Given the description of an element on the screen output the (x, y) to click on. 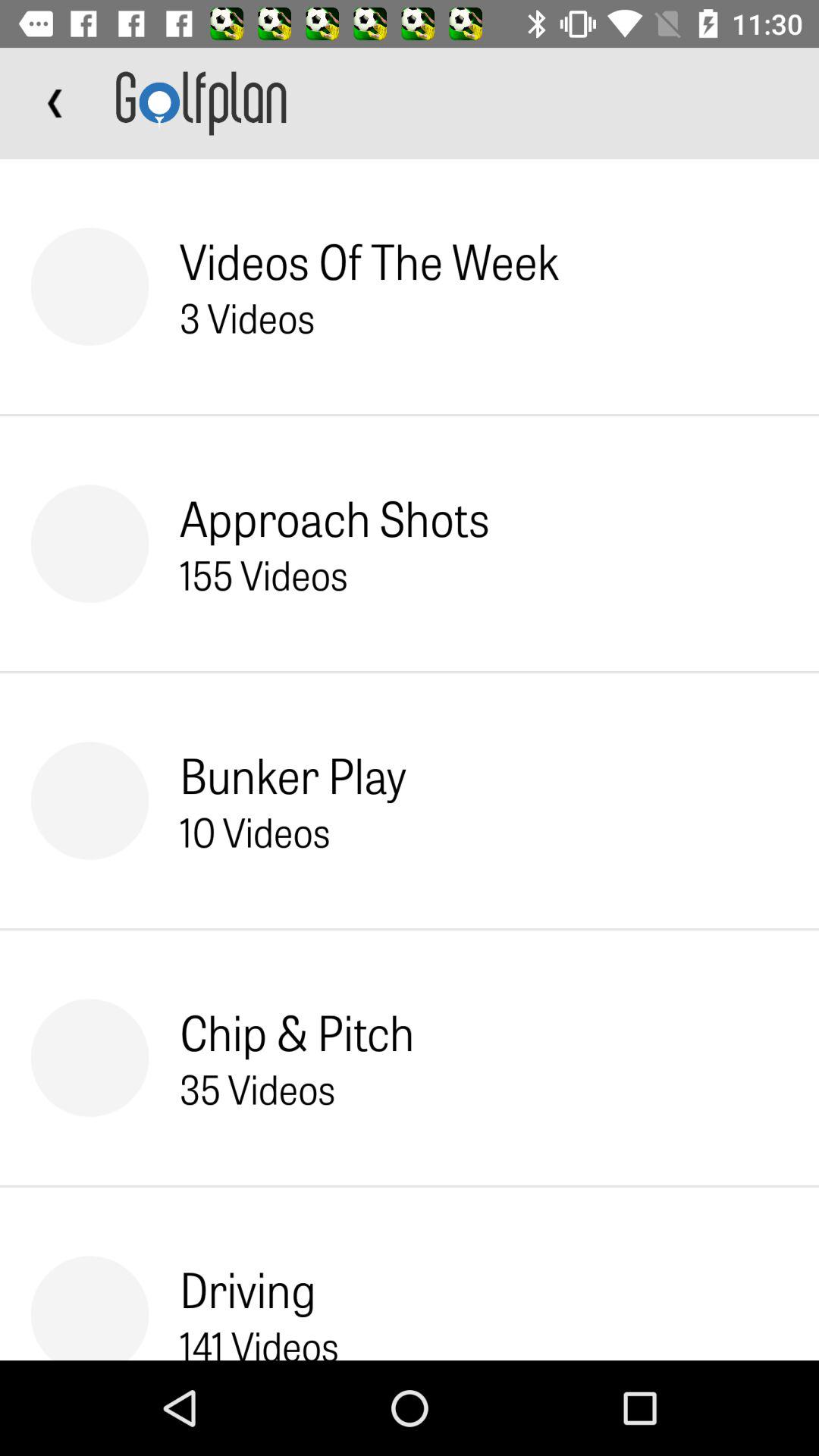
select bunker play item (292, 774)
